Given the description of an element on the screen output the (x, y) to click on. 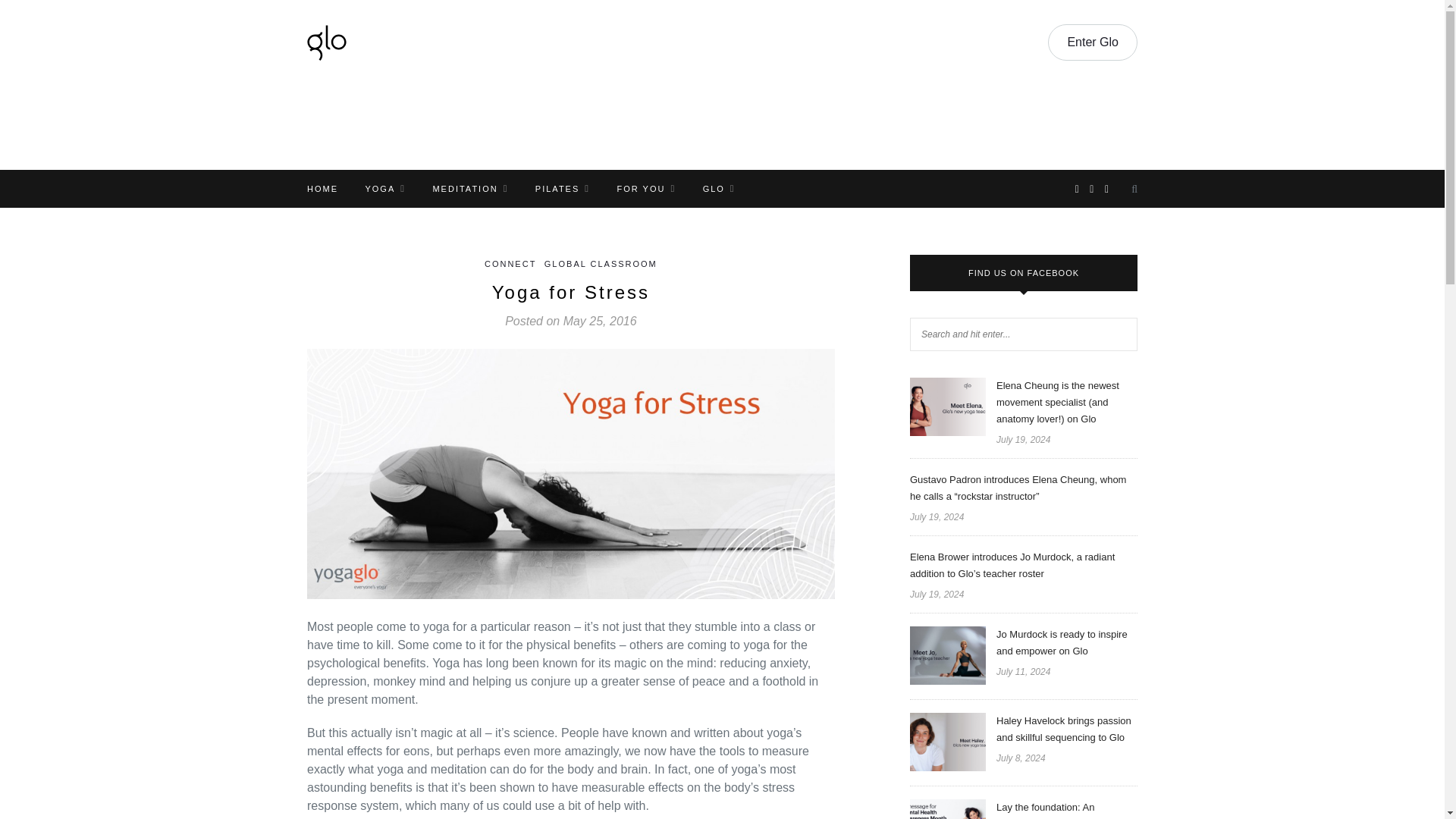
PILATES (562, 188)
Enter Glo (1092, 42)
MEDITATION (470, 188)
YOGA (385, 188)
FOR YOU (647, 188)
